Given the description of an element on the screen output the (x, y) to click on. 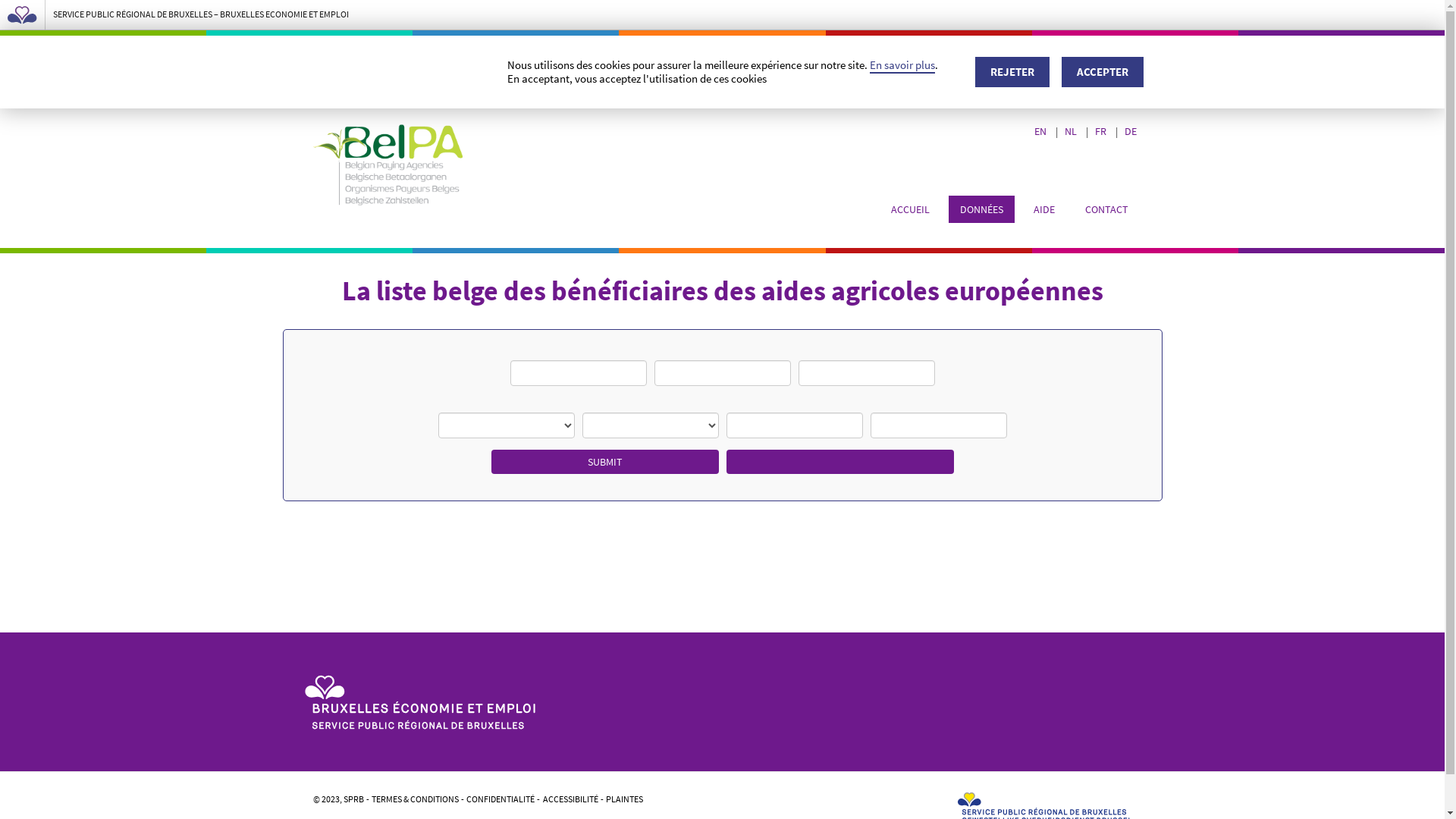
ACCUEIL Element type: text (910, 208)
En savoir plus Element type: text (901, 65)
NL Element type: text (1071, 131)
CONTACT Element type: text (1106, 208)
REJETER Element type: text (1012, 71)
EN Element type: text (1041, 131)
AIDE Element type: text (1044, 208)
ACCEPTER Element type: text (1102, 71)
DE Element type: text (1130, 131)
PLAINTES Element type: text (624, 799)
Aller au contenu principal Element type: text (0, 0)
TERMES & CONDITIONS Element type: text (414, 799)
FR Element type: text (1101, 131)
